Given the description of an element on the screen output the (x, y) to click on. 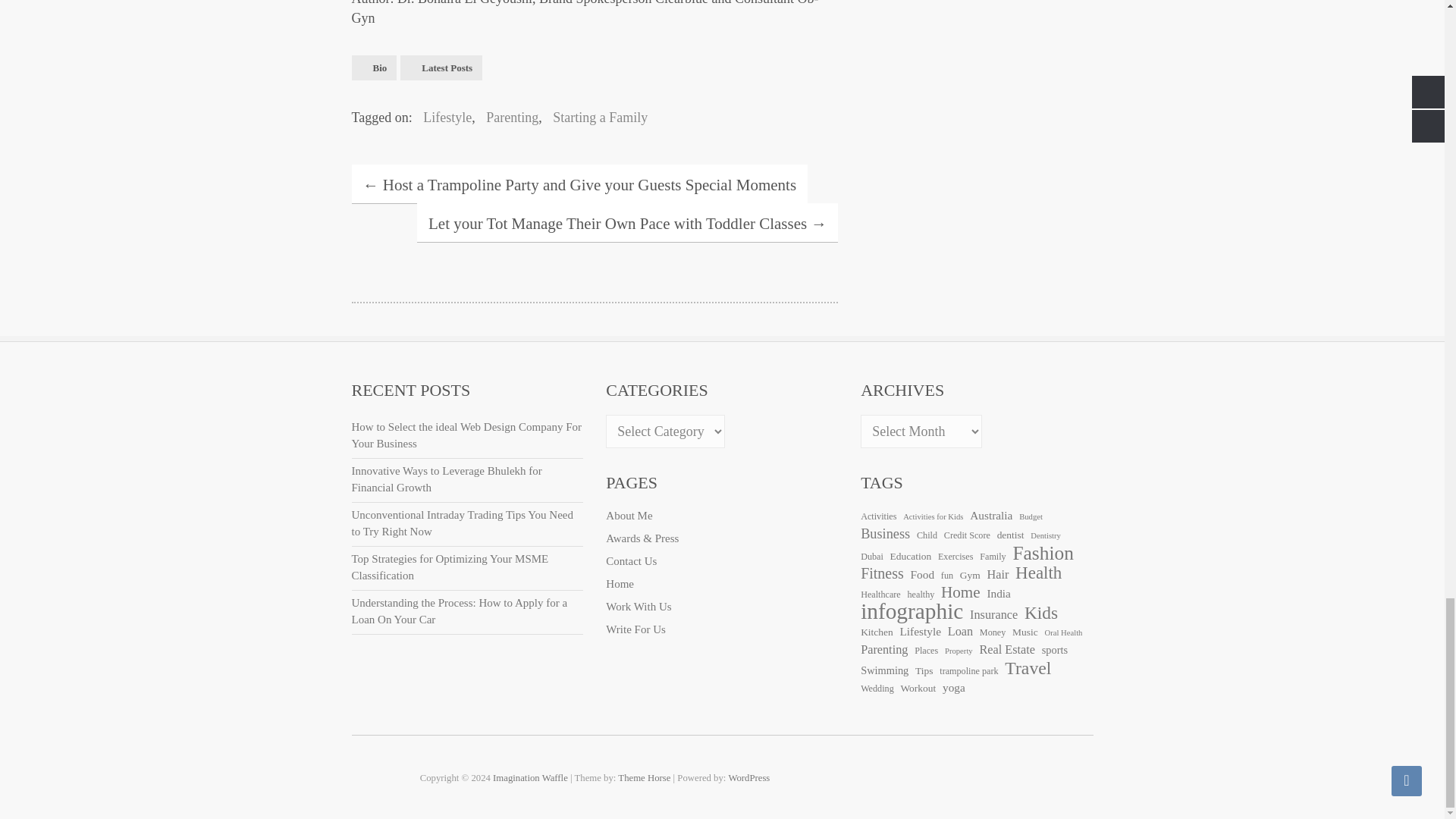
Imagination Waffle on Twitter (1081, 776)
Imagination Waffle (530, 777)
WordPress (749, 777)
Theme Horse (643, 777)
Lifestyle (442, 117)
Imagination Waffle on Facebook (1051, 776)
Latest Posts (440, 67)
Bio (374, 67)
Parenting (508, 117)
